Given the description of an element on the screen output the (x, y) to click on. 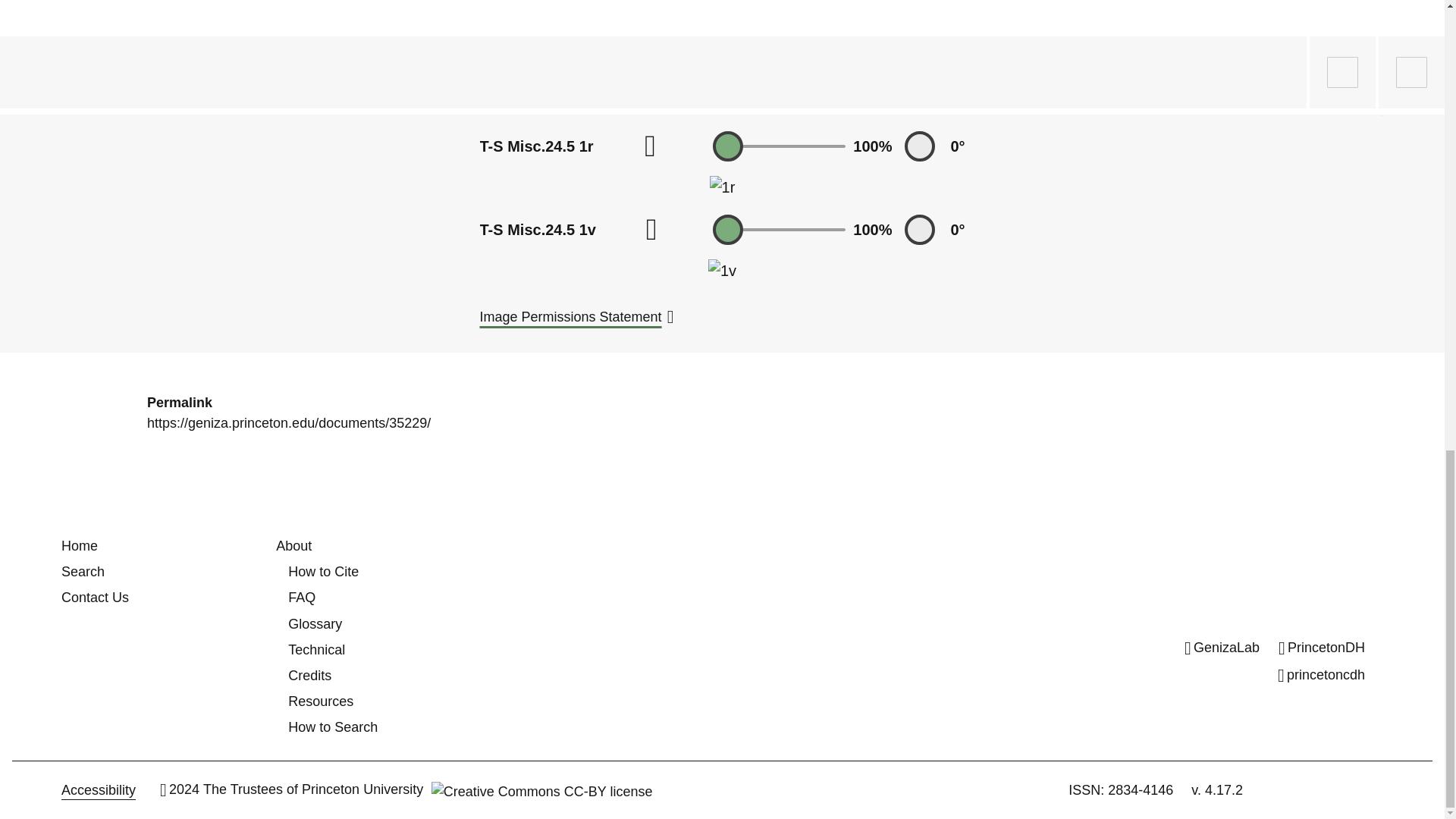
Technical (316, 649)
1 (779, 146)
How to Cite (323, 571)
FAQ (301, 597)
Home (79, 545)
Credits (309, 675)
Search (82, 571)
GenizaLab (1222, 647)
Glossary (315, 623)
1 (779, 229)
1v (721, 270)
How to Search (332, 726)
Contact Us (95, 597)
